Given the description of an element on the screen output the (x, y) to click on. 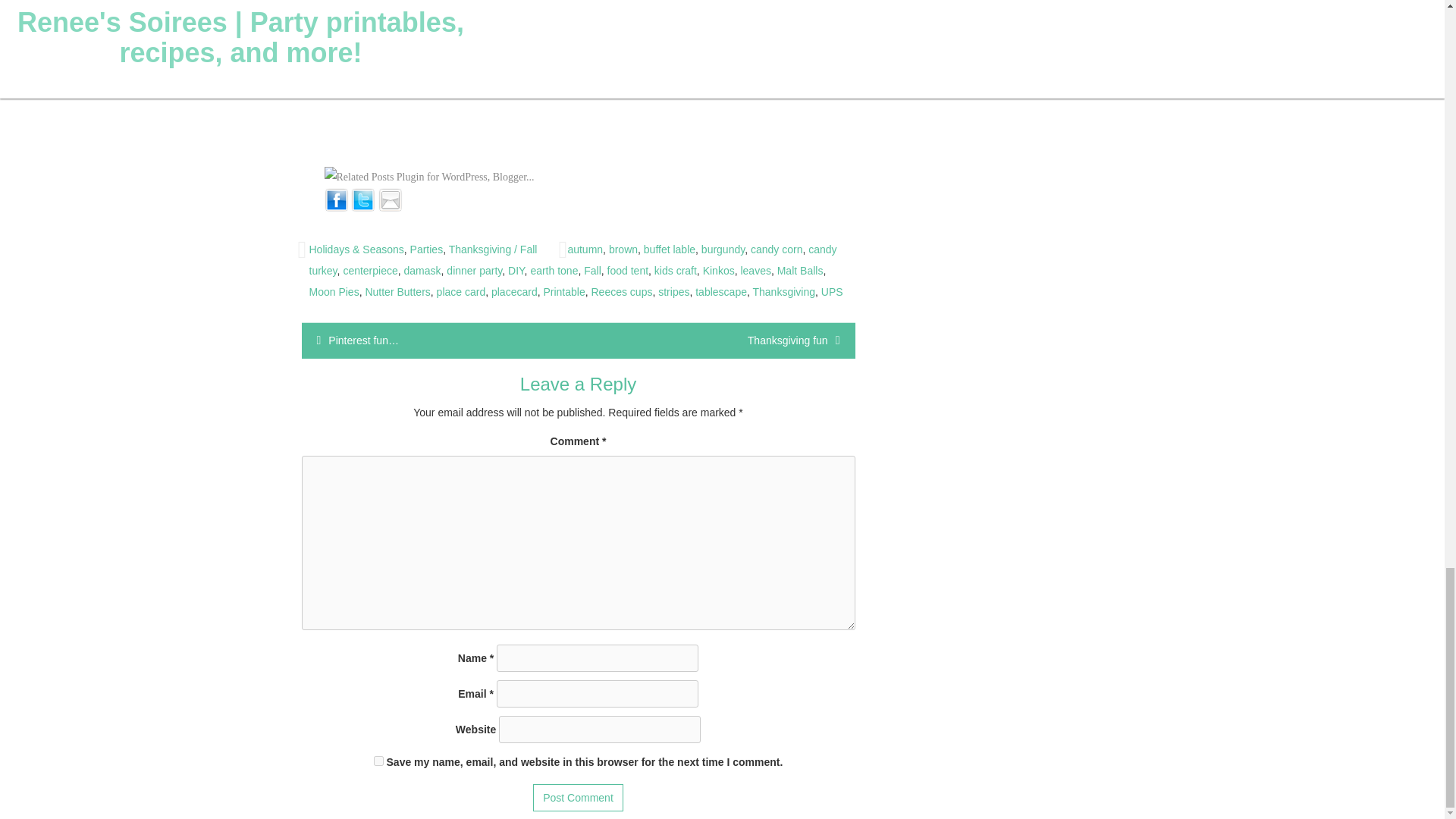
Renee signature (381, 91)
Twitter (362, 198)
Facebook (336, 198)
yes (379, 760)
Post Comment (577, 797)
